Given the description of an element on the screen output the (x, y) to click on. 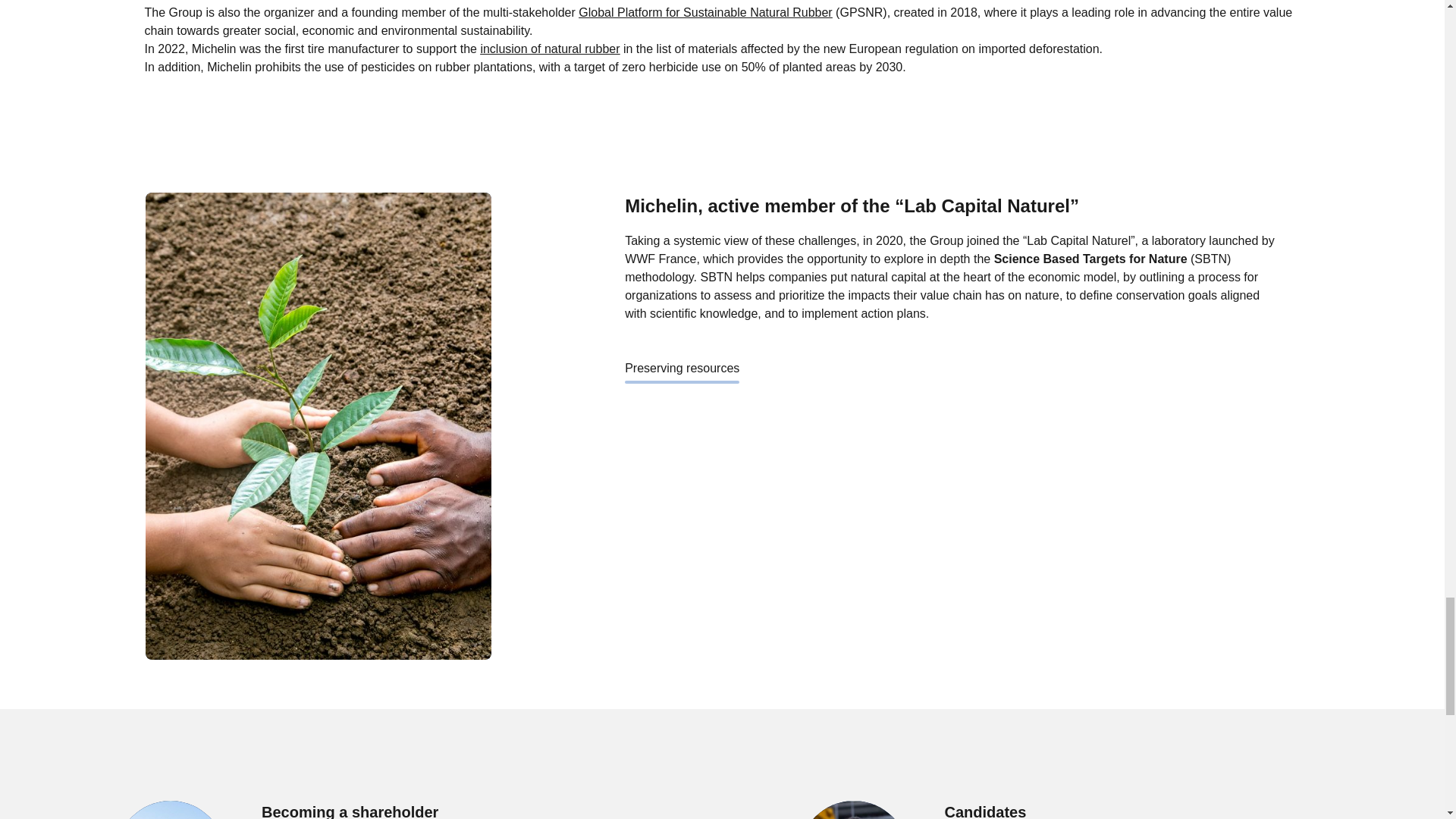
engineering woman (853, 809)
carmes small (170, 809)
